Given the description of an element on the screen output the (x, y) to click on. 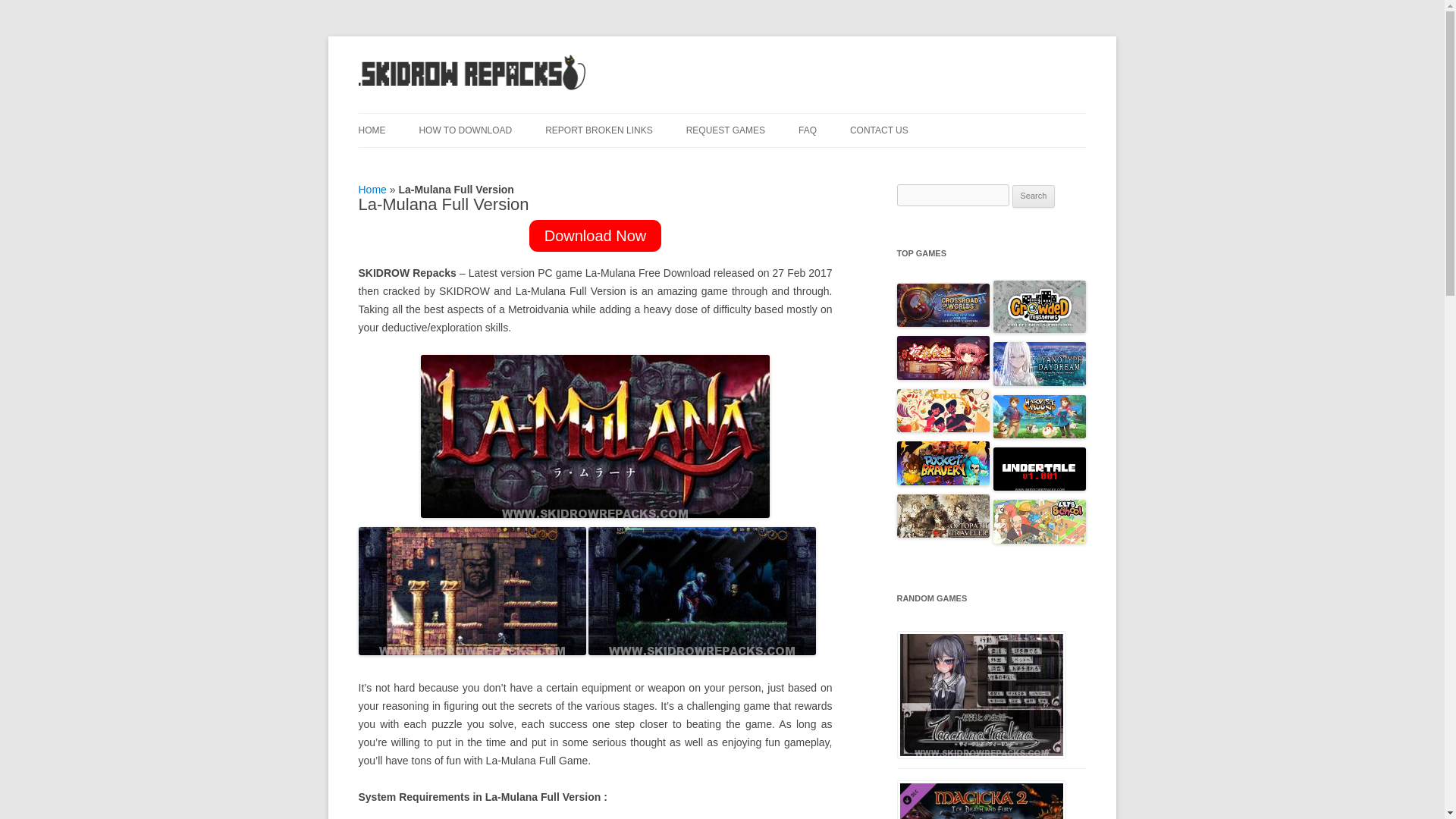
How To Download (465, 130)
REQUEST GAMES (725, 130)
HOW TO DOWNLOAD (465, 130)
La-Mulana Full Version (595, 435)
Home (371, 189)
CONTACT US (879, 130)
Download Now La-Mulana Full Version (595, 235)
SKIDROW Repacks (471, 89)
REPORT BROKEN LINKS (598, 130)
La-Mulana (471, 591)
Search (1033, 196)
La-Mulana Free Download (701, 591)
Download Now (595, 235)
